Given the description of an element on the screen output the (x, y) to click on. 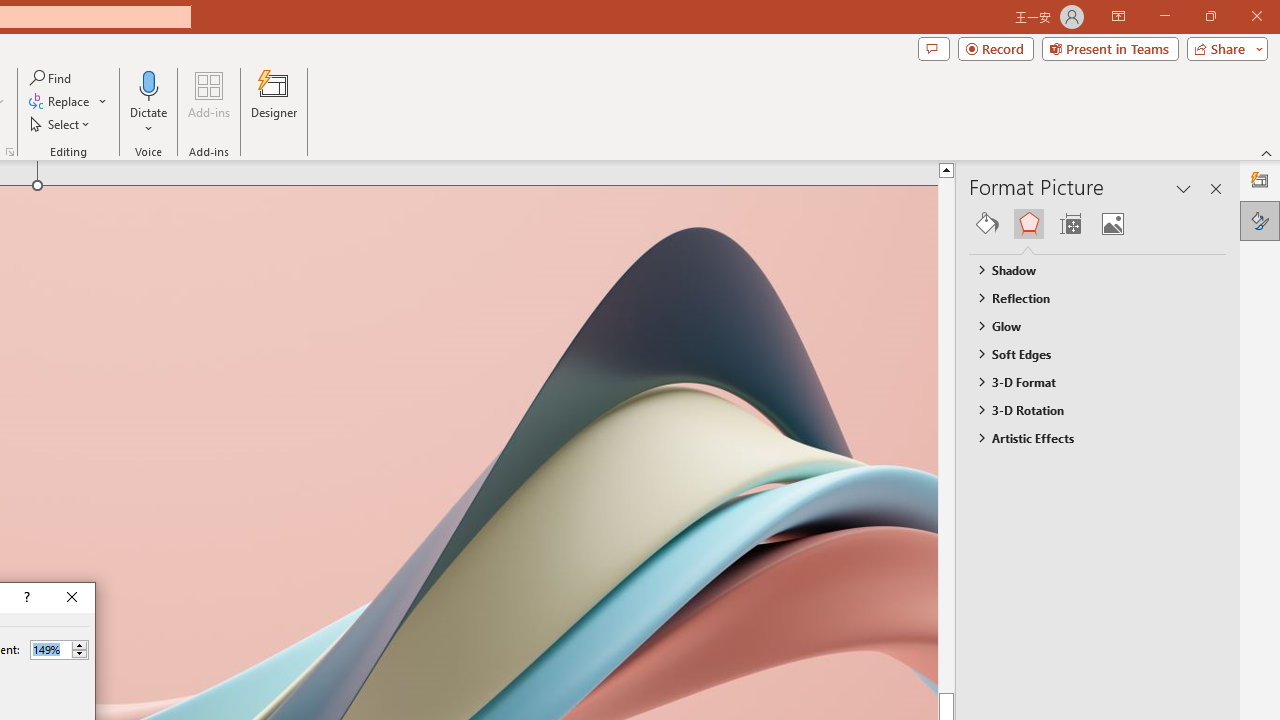
3-D Format (1088, 381)
Effects (1028, 223)
Find... (51, 78)
Glow (1088, 325)
Class: NetUIGalleryContainer (1098, 223)
More (79, 645)
Format Object... (9, 151)
